Given the description of an element on the screen output the (x, y) to click on. 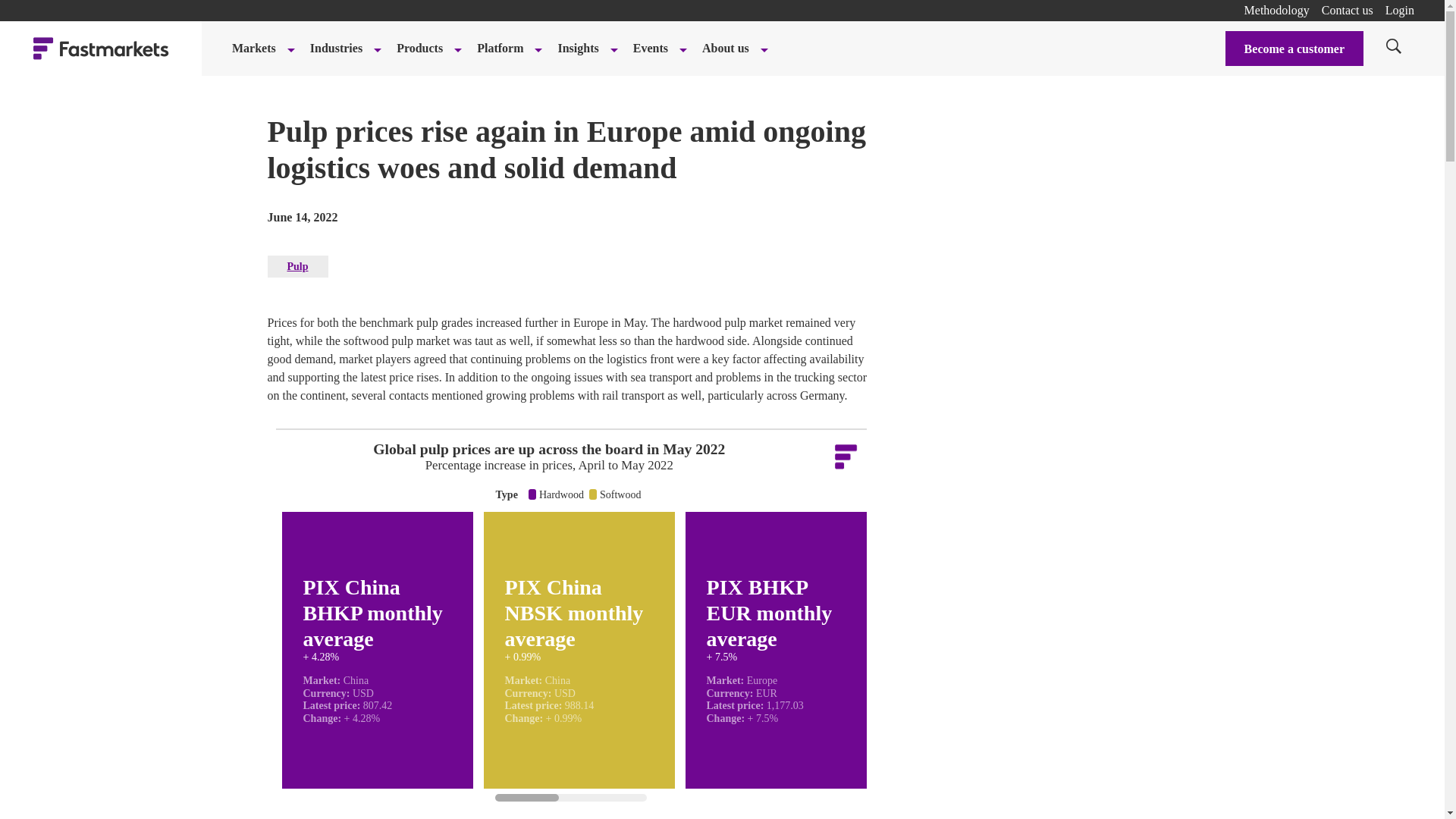
Login (1399, 10)
Methodology (1276, 10)
Contact us (1347, 10)
